Given the description of an element on the screen output the (x, y) to click on. 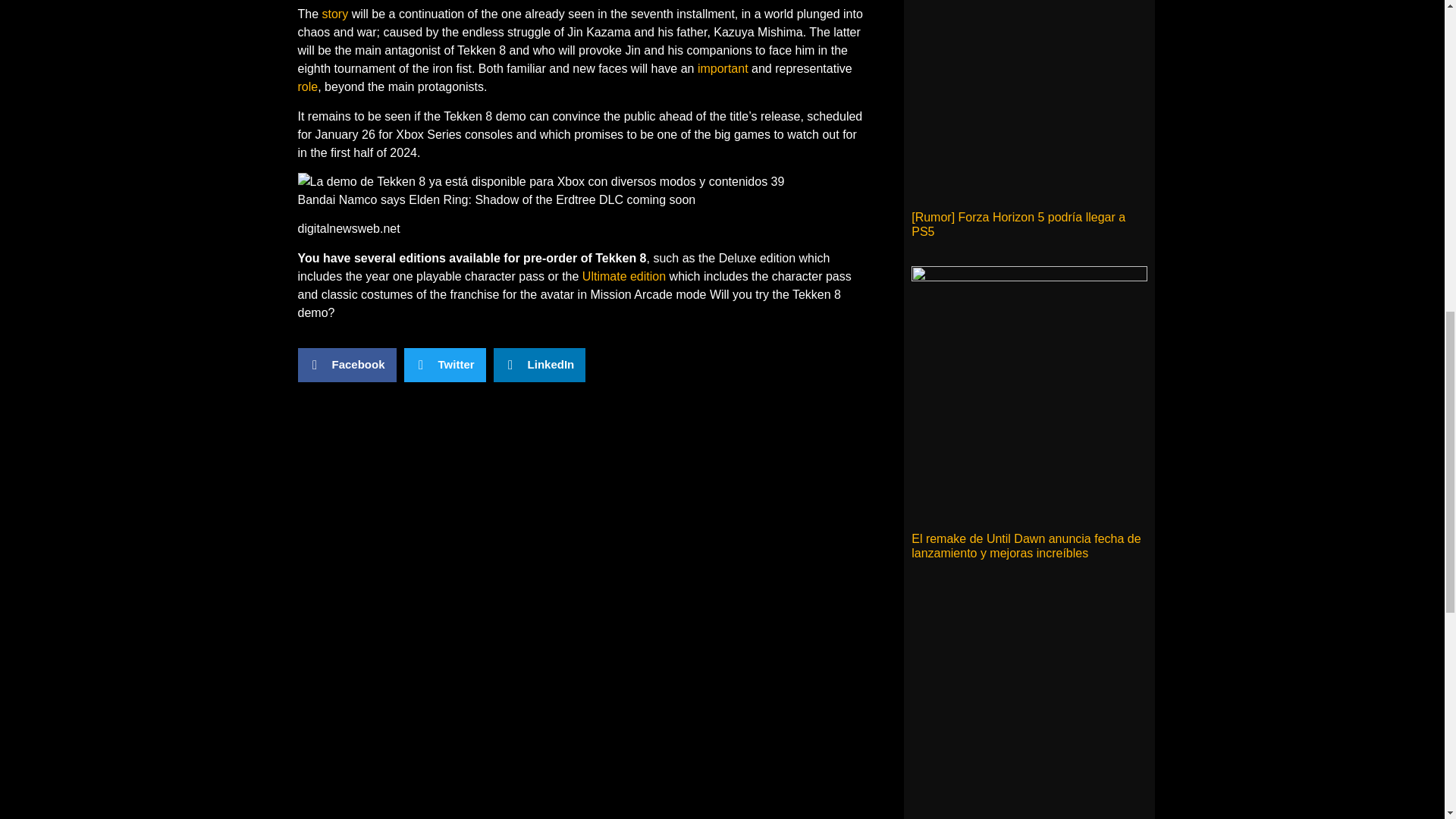
story (335, 13)
important (722, 68)
Ultimate edition (623, 276)
role (307, 86)
